Given the description of an element on the screen output the (x, y) to click on. 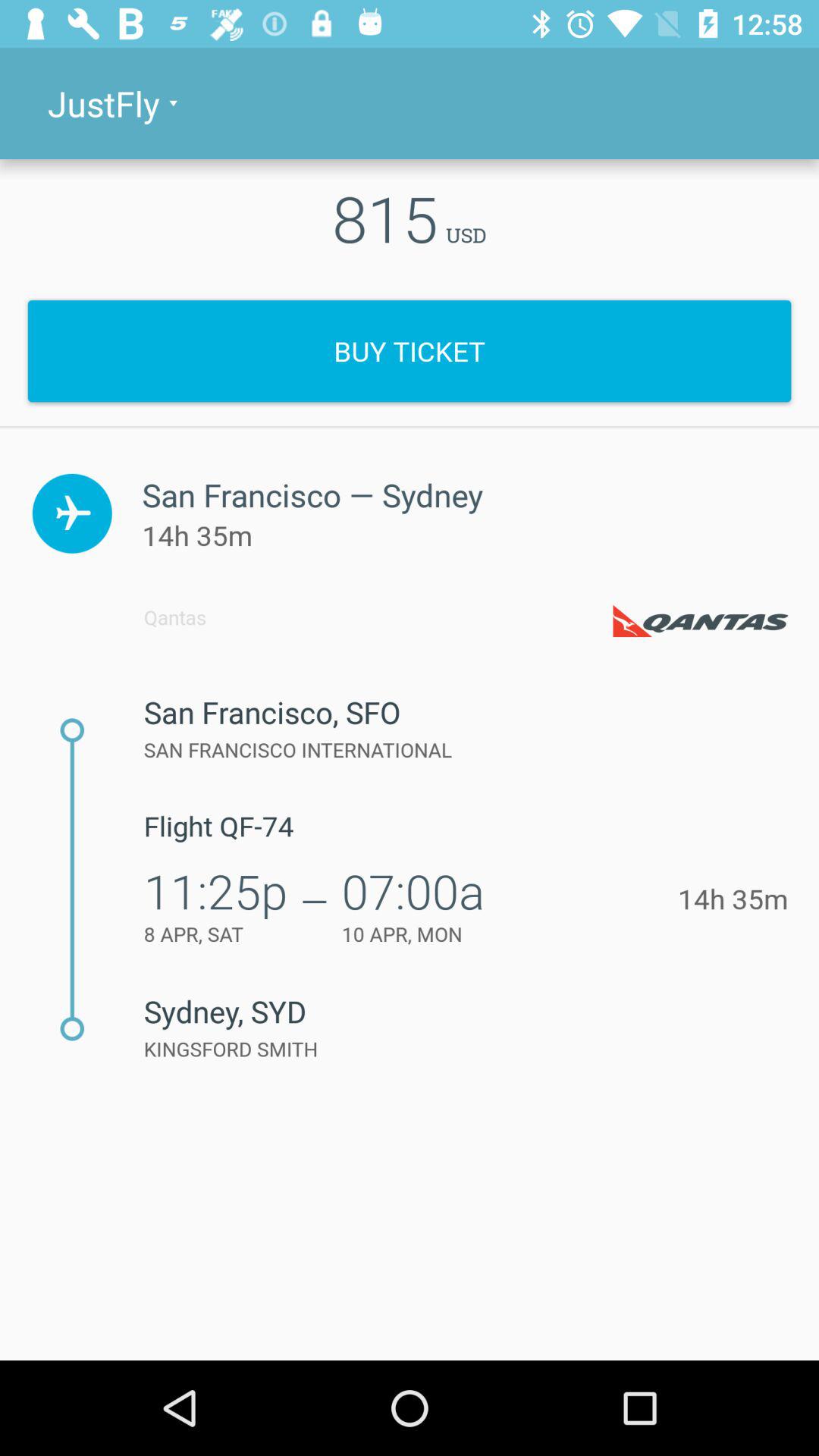
swipe until buy ticket item (409, 351)
